Given the description of an element on the screen output the (x, y) to click on. 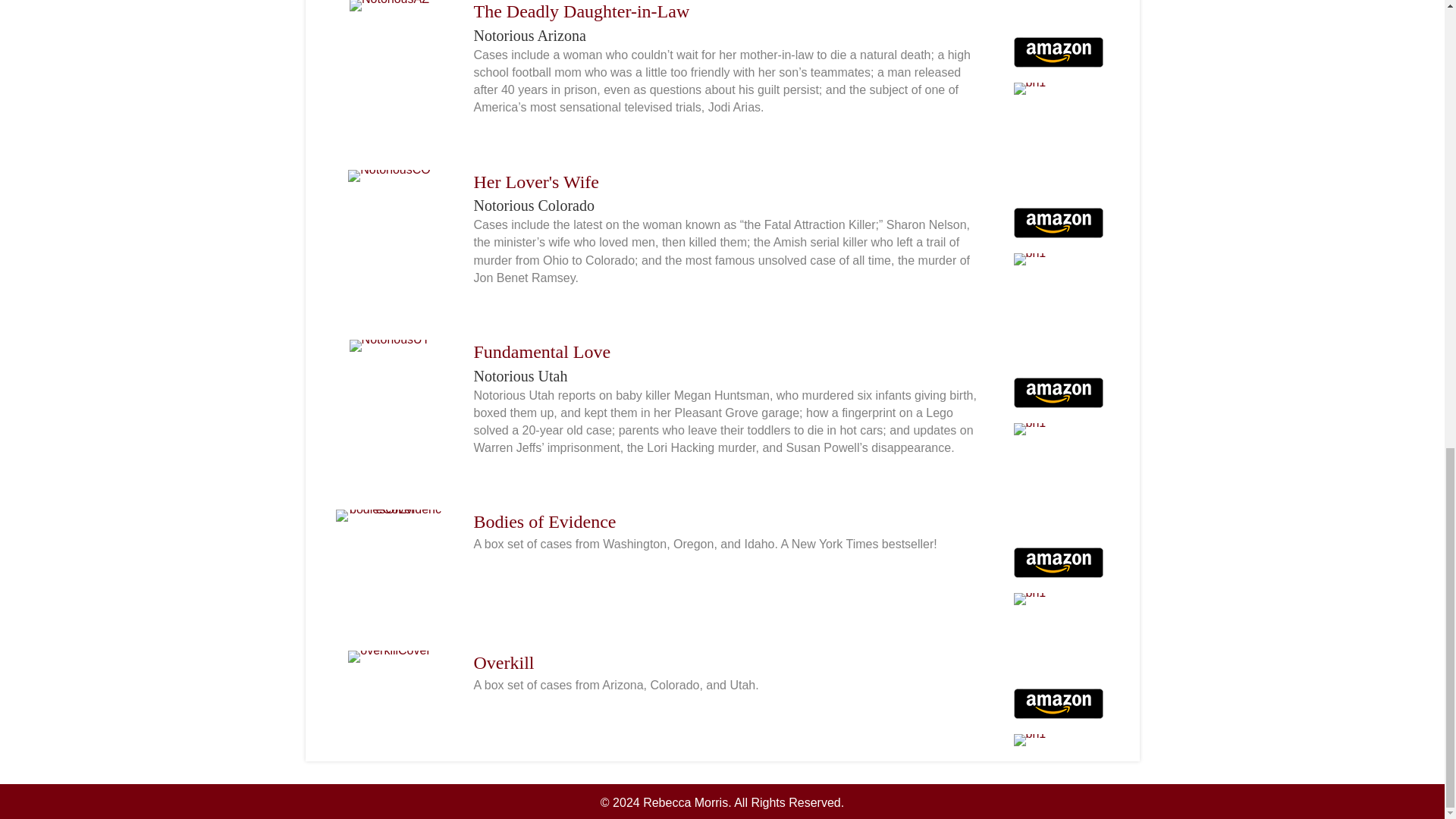
bn1 (1029, 88)
bn1 (1029, 259)
NotoriousCO (388, 175)
amazon1 (1057, 223)
NotoriousAZ (389, 5)
amazon1 (1057, 51)
